Given the description of an element on the screen output the (x, y) to click on. 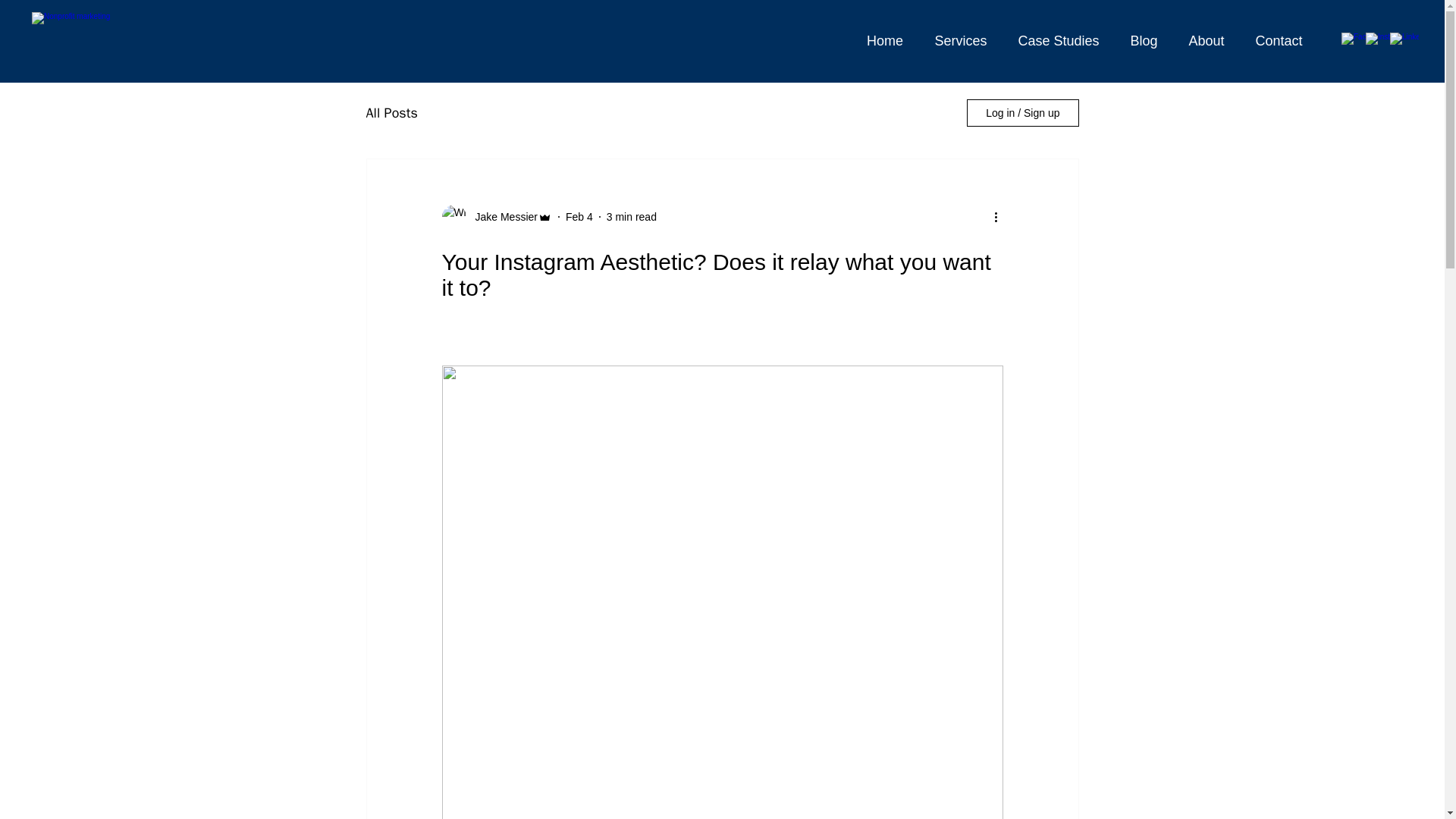
3 min read (631, 216)
Blog (1144, 40)
Services (960, 40)
Jake Messier (501, 217)
About (1206, 40)
Home (884, 40)
Case Studies (1059, 40)
Feb 4 (579, 216)
All Posts (390, 113)
Contact (1278, 40)
